Given the description of an element on the screen output the (x, y) to click on. 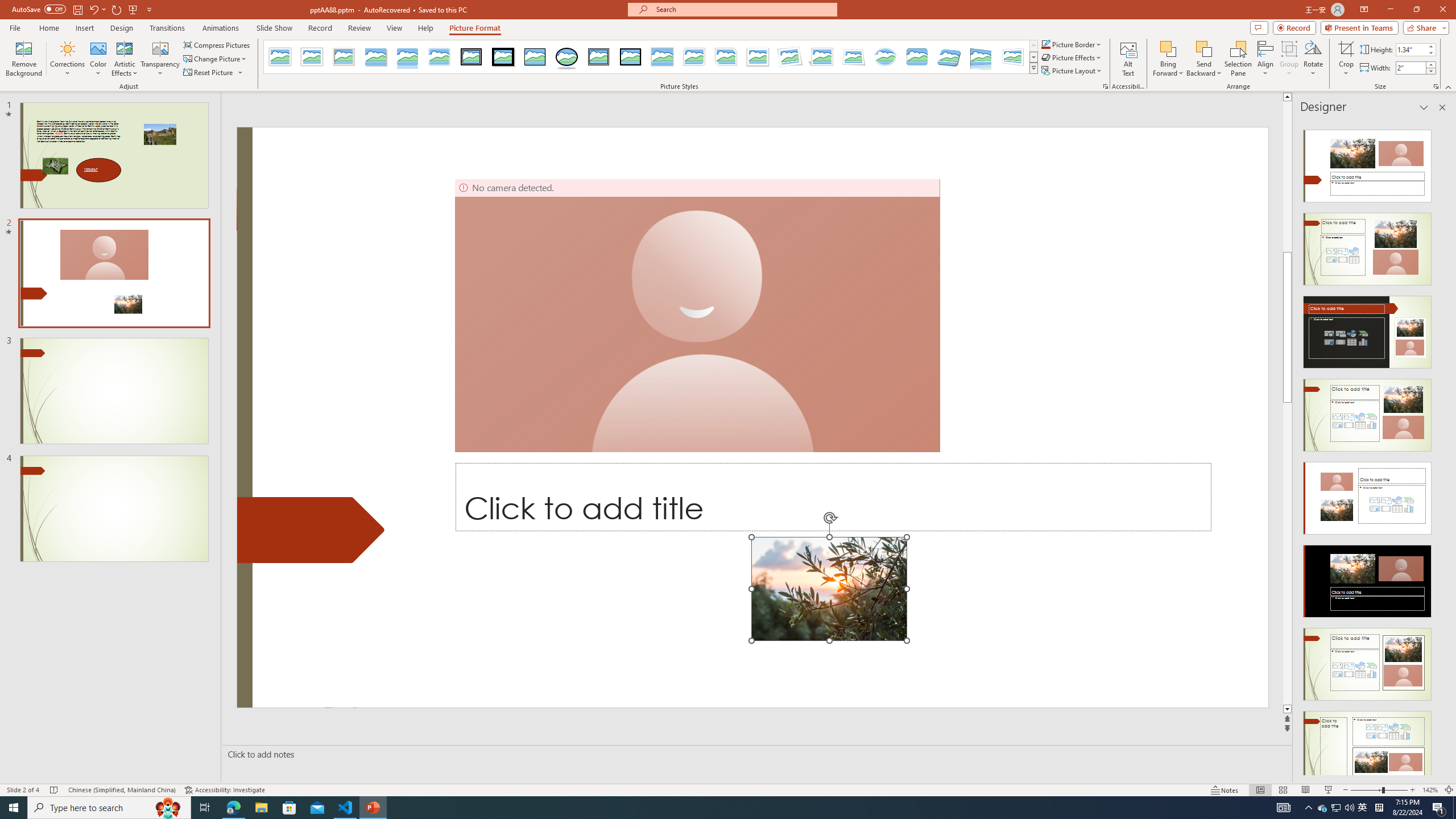
Reflected Rounded Rectangle (407, 56)
Close up of an olive branch on a sunset (829, 588)
Picture Layout (1072, 69)
Soft Edge Oval (885, 56)
Drop Shadow Rectangle (375, 56)
Class: NetUIScrollBar (1441, 447)
Send Backward (1204, 48)
Picture Border Teal, Accent 1 (1045, 44)
Camera 7, No camera detected. (697, 314)
